Given the description of an element on the screen output the (x, y) to click on. 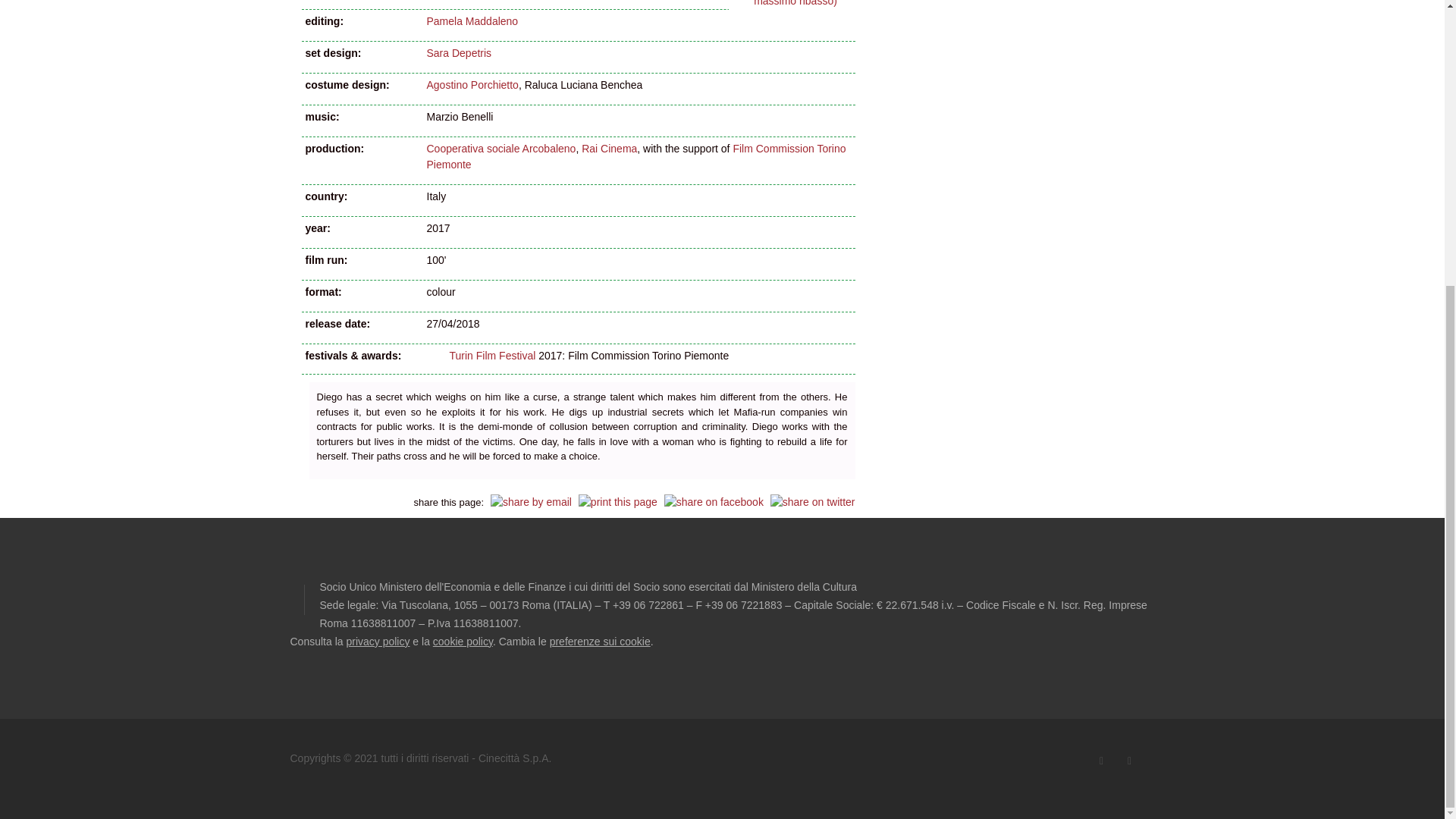
share on facebook (712, 500)
share by email (531, 500)
print this page (618, 500)
share on twitter (813, 500)
